Given the description of an element on the screen output the (x, y) to click on. 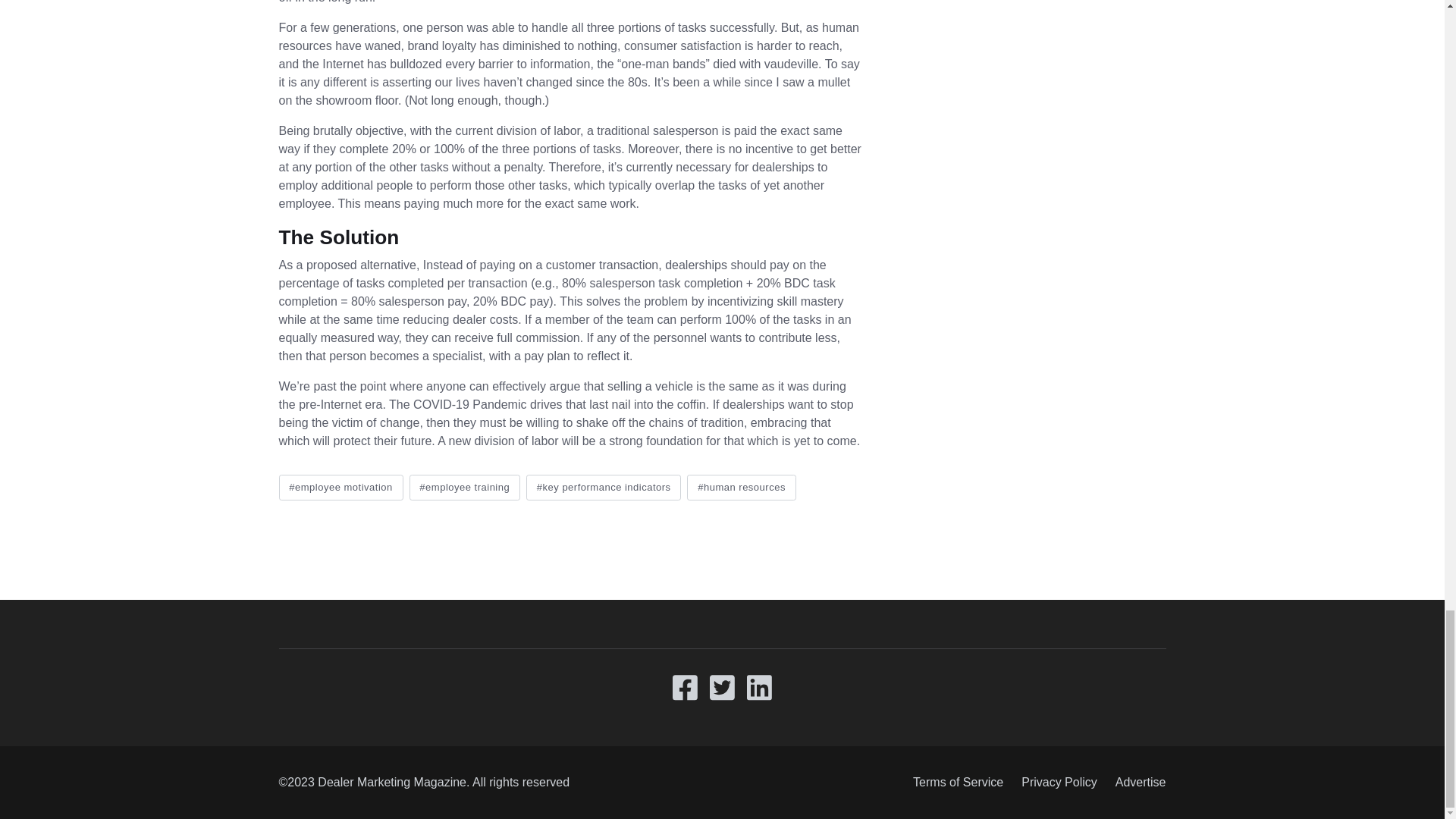
Dealer Marketing Magazine (391, 781)
Terms of Service (957, 782)
Privacy Policy (1058, 782)
Advertise (1136, 782)
